Given the description of an element on the screen output the (x, y) to click on. 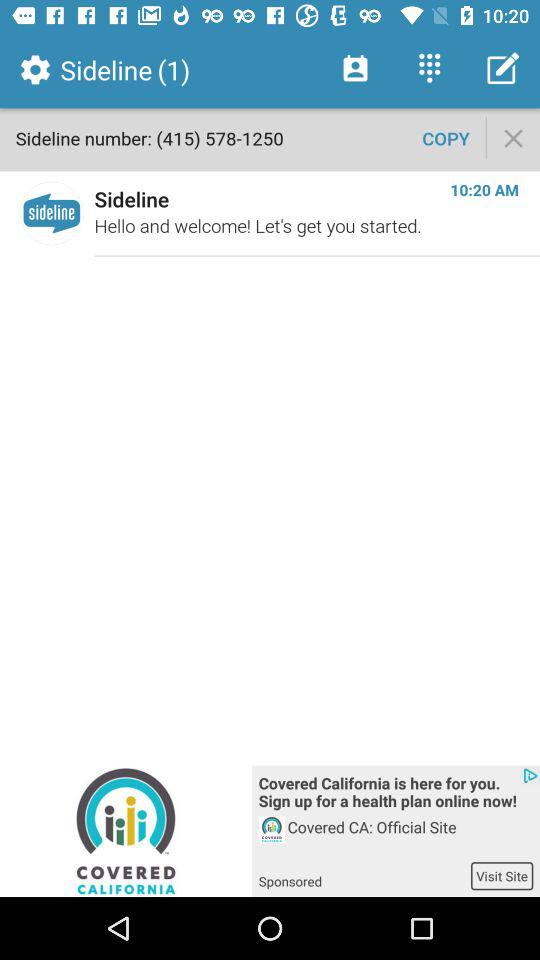
launch the item below hello and welcome (395, 794)
